Given the description of an element on the screen output the (x, y) to click on. 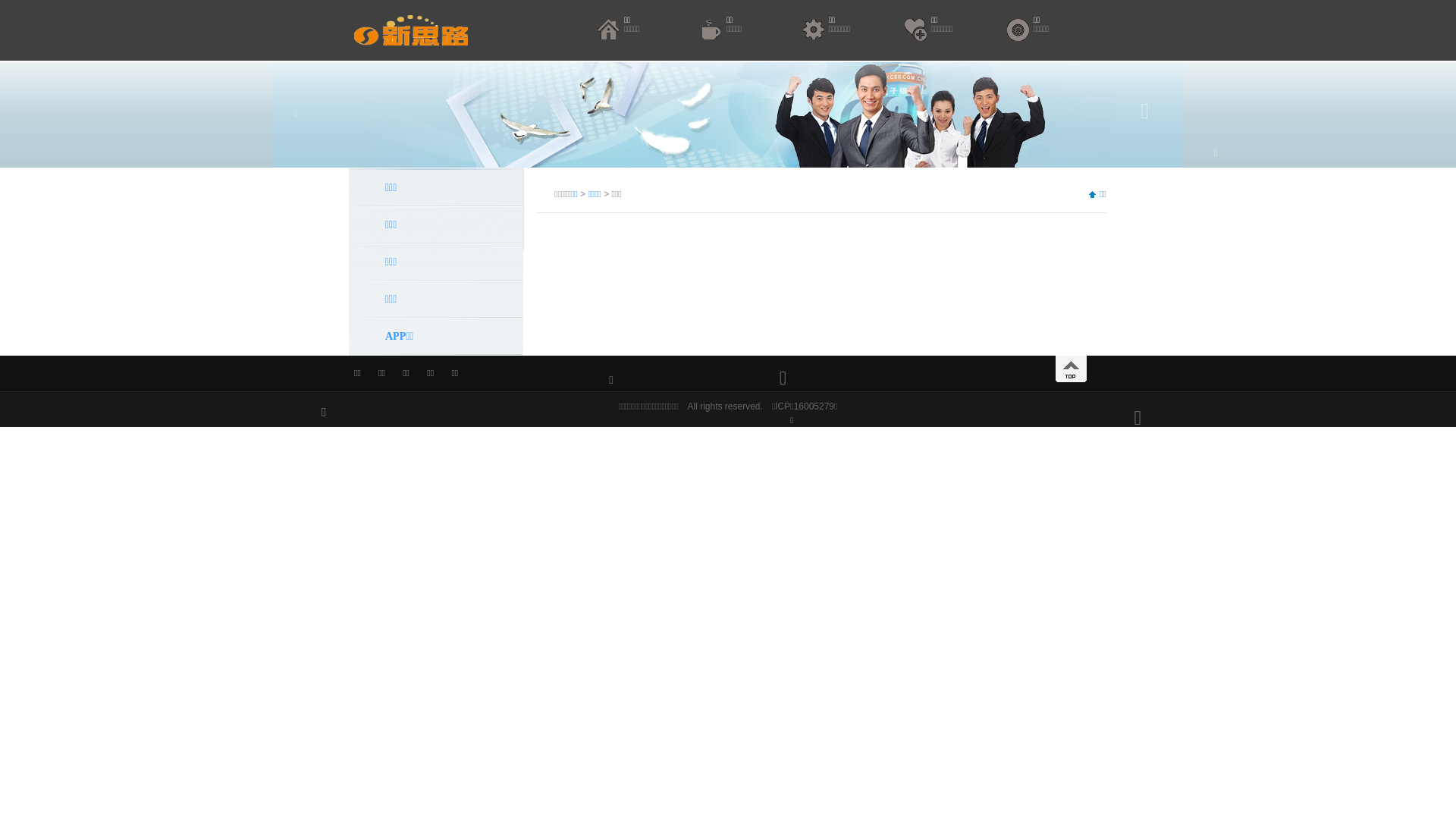
top Element type: text (1070, 368)
